Given the description of an element on the screen output the (x, y) to click on. 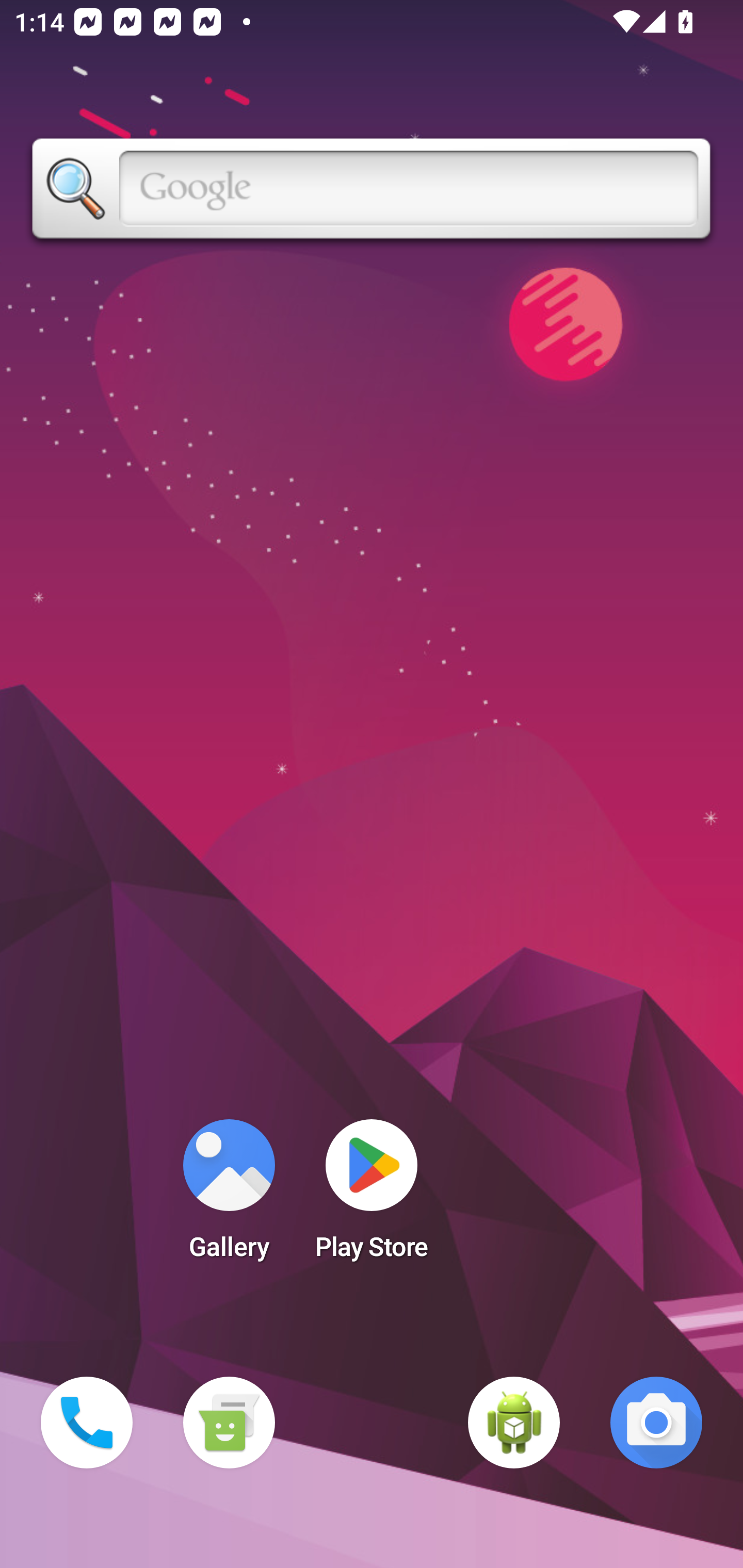
Gallery (228, 1195)
Play Store (371, 1195)
Phone (86, 1422)
Messaging (228, 1422)
WebView Browser Tester (513, 1422)
Camera (656, 1422)
